Given the description of an element on the screen output the (x, y) to click on. 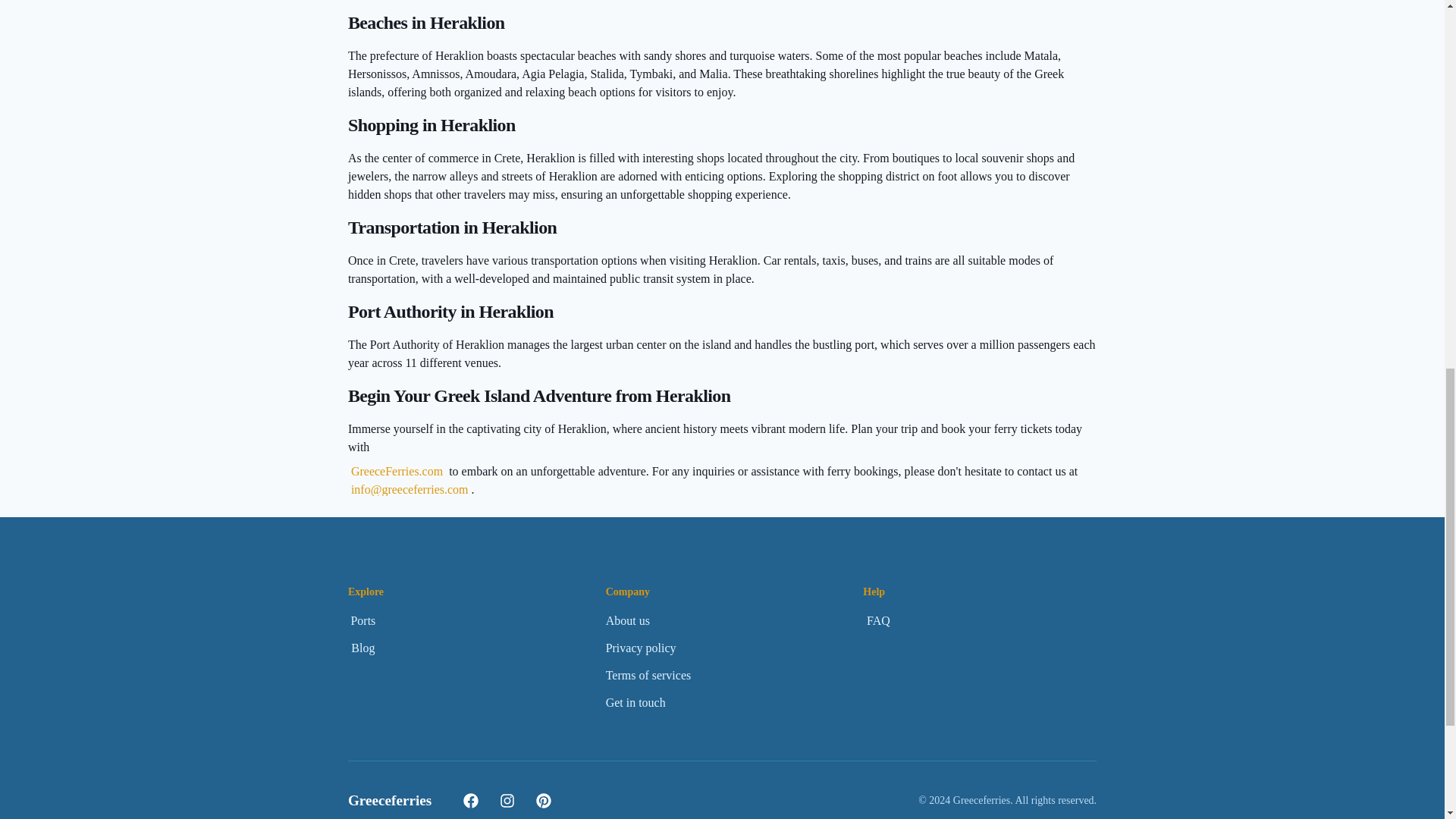
GreeceFerries.com (396, 471)
Get in touch (635, 702)
Blog (362, 648)
FAQ (878, 621)
Ports (362, 620)
Ports (362, 621)
Blog (362, 647)
Terms of services (648, 675)
Get in touch (635, 703)
About us (627, 620)
Terms of services (648, 675)
About us (627, 621)
Privacy policy (641, 647)
Privacy policy (641, 648)
FAQ (878, 620)
